Given the description of an element on the screen output the (x, y) to click on. 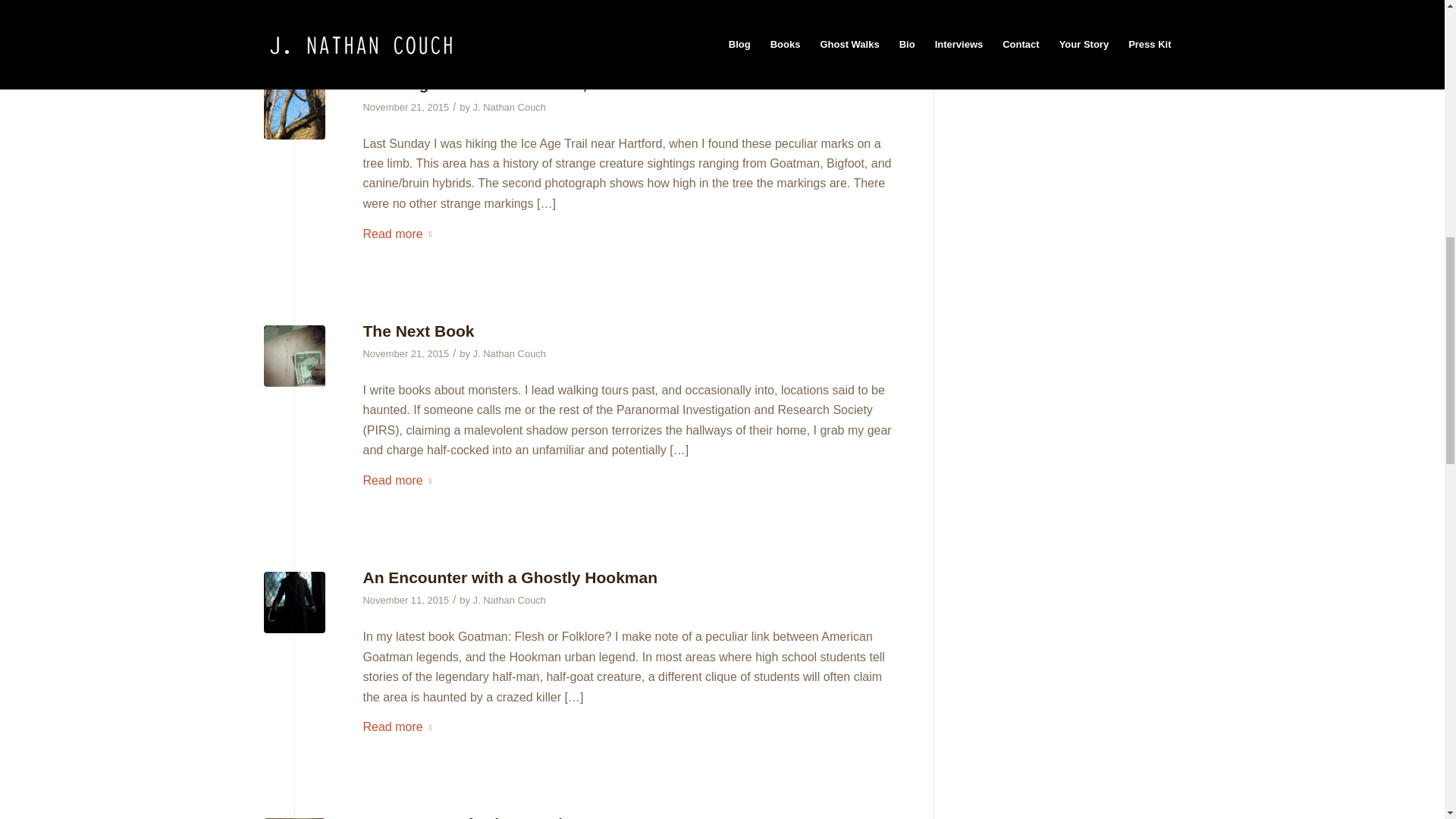
Posts by J. Nathan Couch (510, 107)
A Strange Hike Near Hartford, Wisconsin (515, 83)
Read more (400, 234)
J. Nathan Couch (510, 107)
strange-markings (293, 108)
Permanent Link: A Strange Hike Near Hartford, Wisconsin (515, 83)
